Given the description of an element on the screen output the (x, y) to click on. 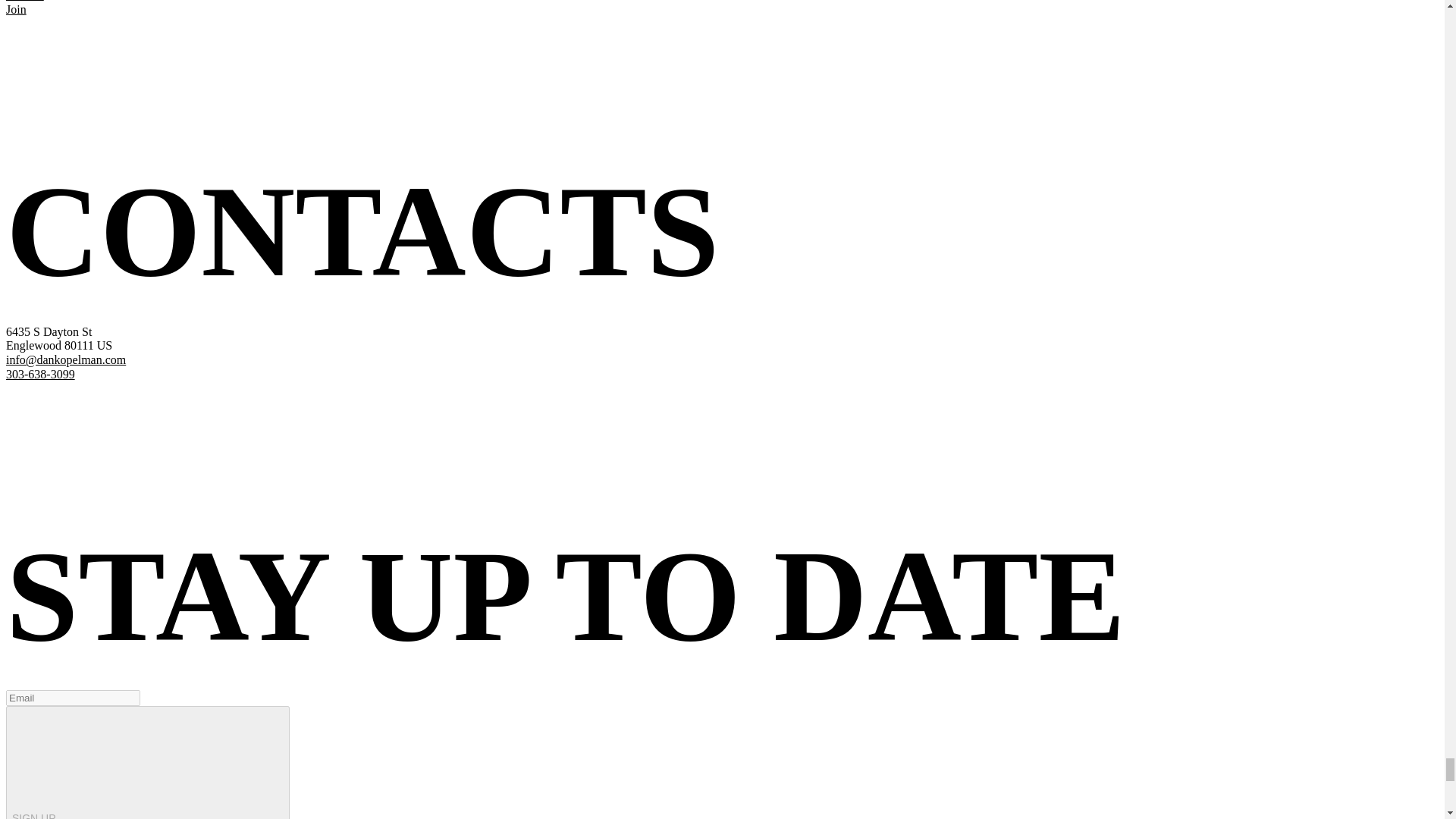
303-638-3099 (40, 373)
SIGN UP (147, 762)
Contact (24, 0)
Join (15, 9)
